Given the description of an element on the screen output the (x, y) to click on. 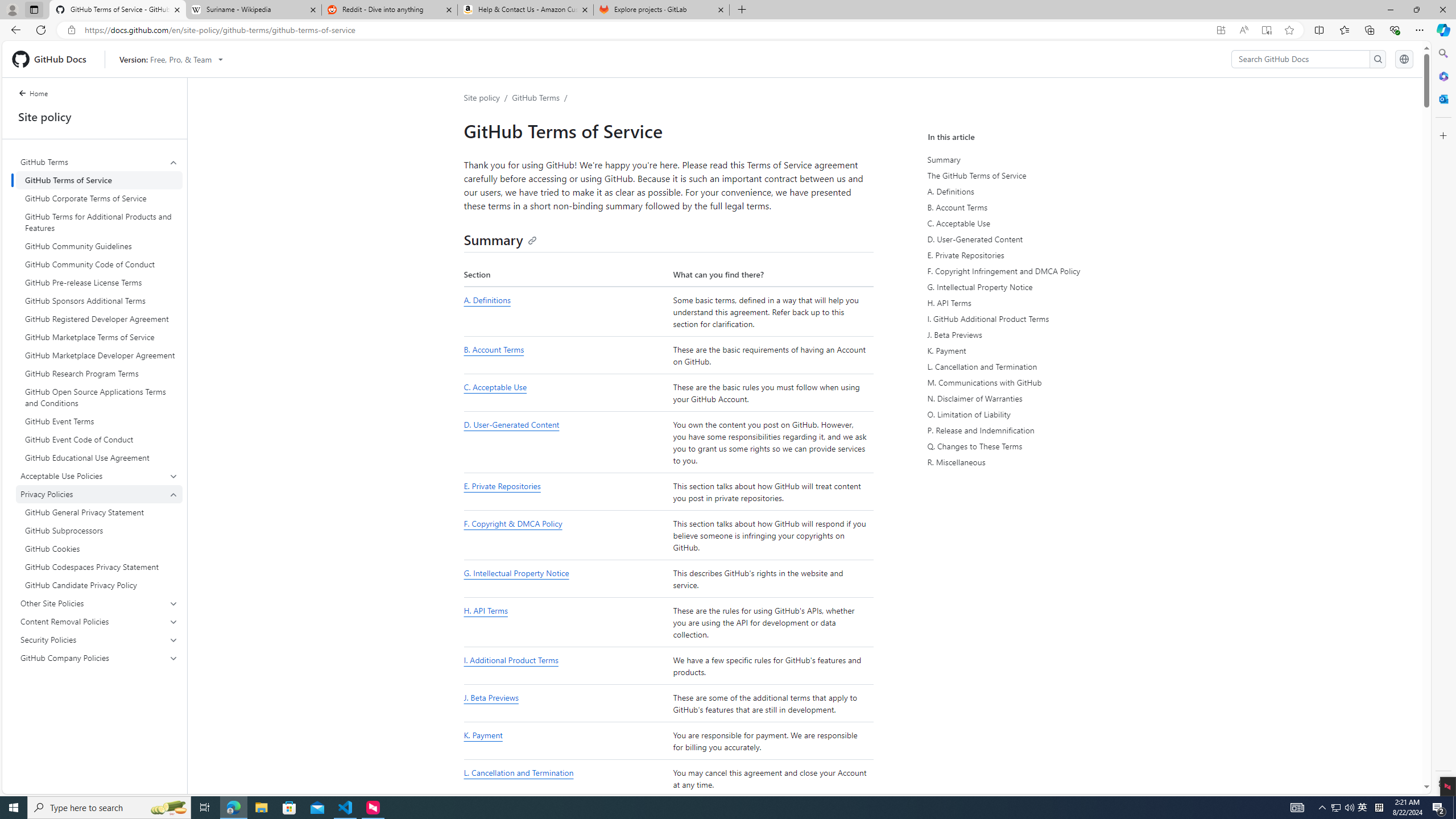
E. Private Repositories (501, 486)
Acceptable Use Policies (99, 475)
GitHub General Privacy Statement (99, 512)
GitHub Community Code of Conduct (99, 264)
GitHub Corporate Terms of Service (99, 198)
F. Copyright & DMCA Policy (512, 523)
Content Removal Policies (99, 621)
Security Policies (99, 639)
GitHub Terms of Service (99, 180)
O. Limitation of Liability (1032, 414)
GitHub General Privacy Statement (99, 512)
